Given the description of an element on the screen output the (x, y) to click on. 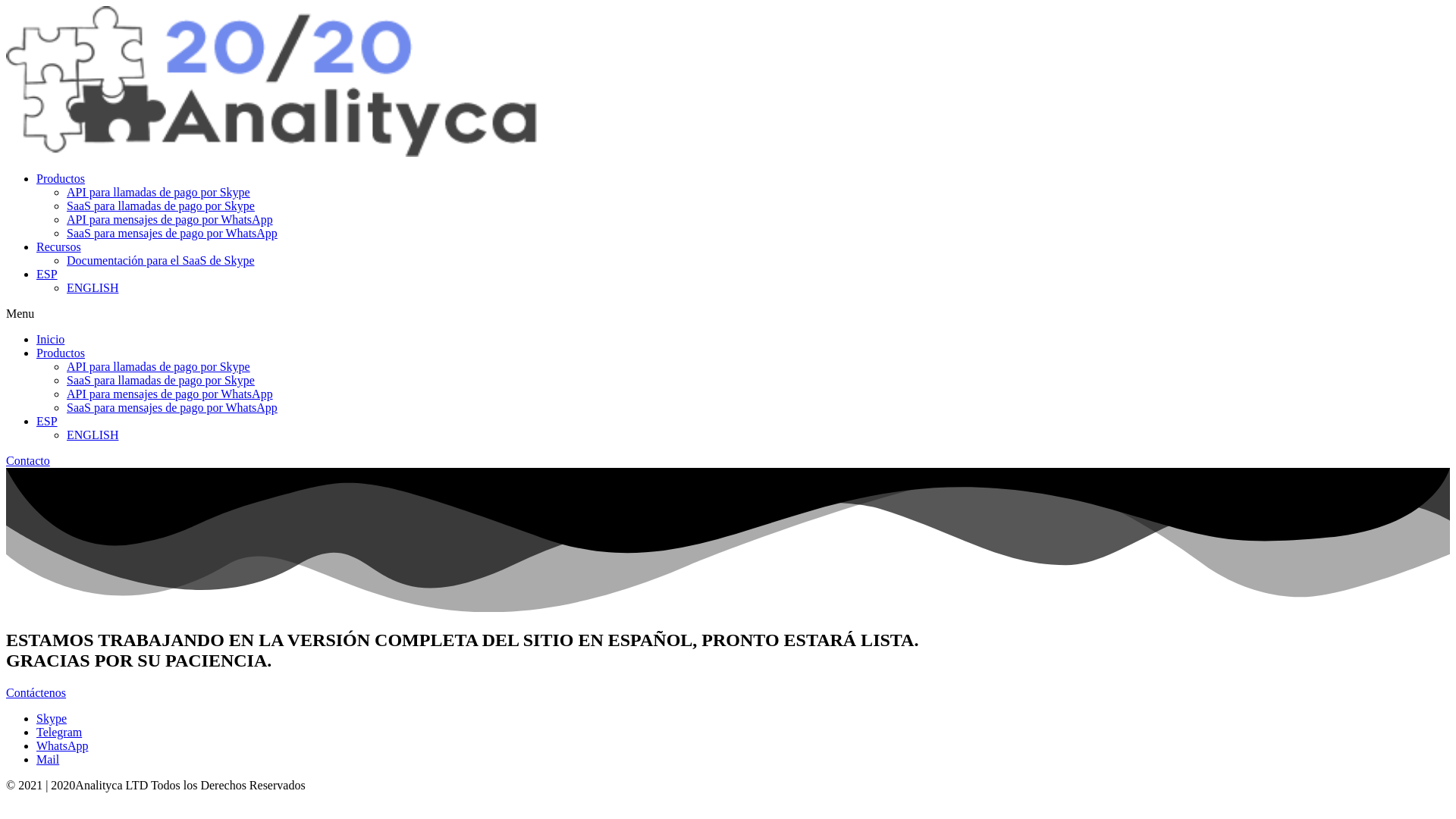
Skype Element type: text (51, 718)
SaaS para llamadas de pago por Skype Element type: text (160, 379)
API para mensajes de pago por WhatsApp Element type: text (169, 219)
Telegram Element type: text (58, 731)
API para mensajes de pago por WhatsApp Element type: text (169, 393)
ENGLISH Element type: text (92, 434)
ESP Element type: text (46, 420)
ENGLISH Element type: text (92, 287)
Recursos Element type: text (58, 246)
SaaS para mensajes de pago por WhatsApp Element type: text (171, 407)
Inicio Element type: text (50, 338)
Productos Element type: text (60, 352)
Mail Element type: text (47, 759)
API para llamadas de pago por Skype Element type: text (158, 191)
SaaS para mensajes de pago por WhatsApp Element type: text (171, 232)
WhatsApp Element type: text (61, 745)
API para llamadas de pago por Skype Element type: text (158, 366)
SaaS para llamadas de pago por Skype Element type: text (160, 205)
ESP Element type: text (46, 273)
Productos Element type: text (60, 178)
Contacto Element type: text (28, 460)
